Given the description of an element on the screen output the (x, y) to click on. 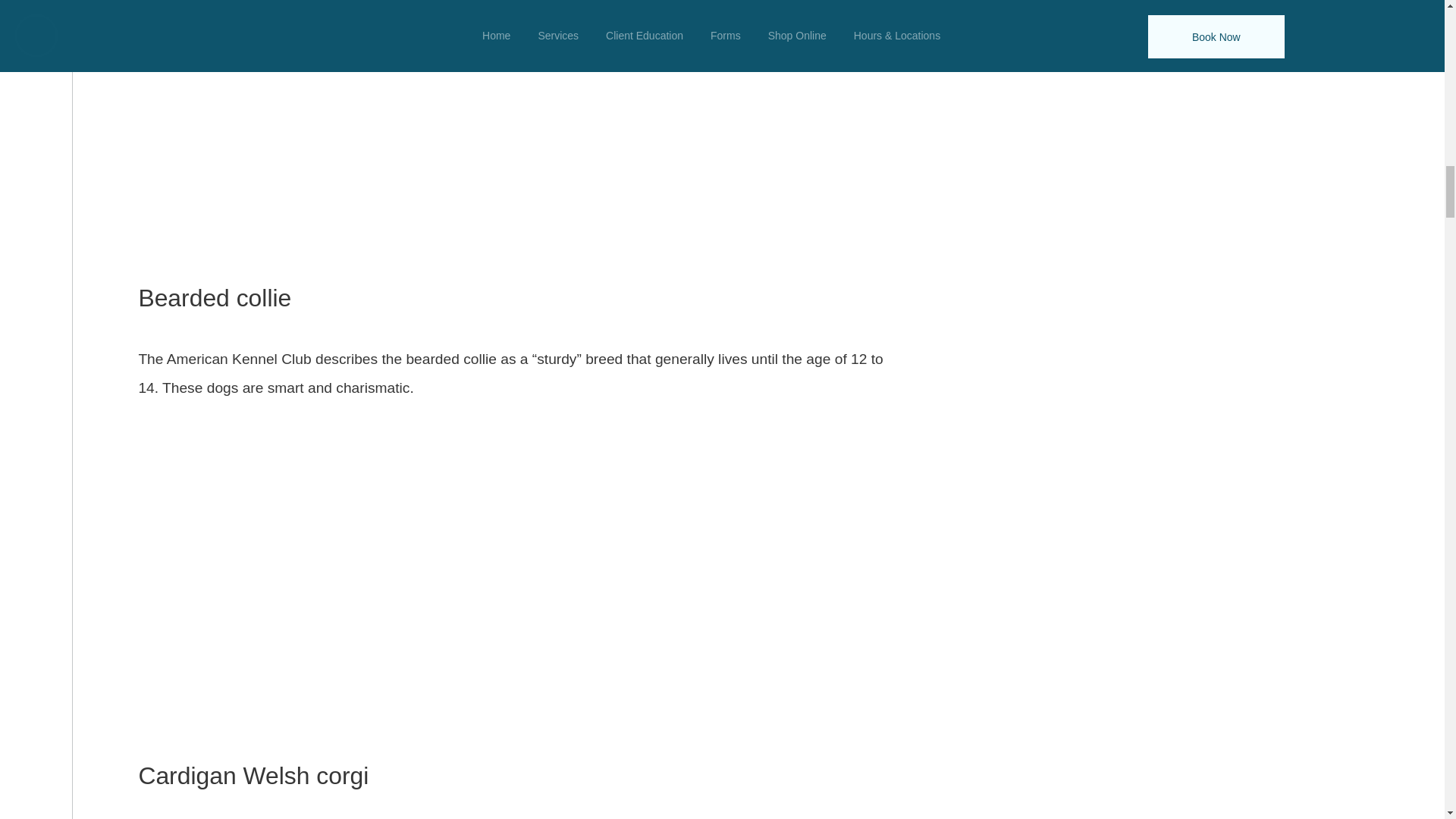
The 25 Dog Breeds With Longest Life Spans 5 (512, 128)
